Given the description of an element on the screen output the (x, y) to click on. 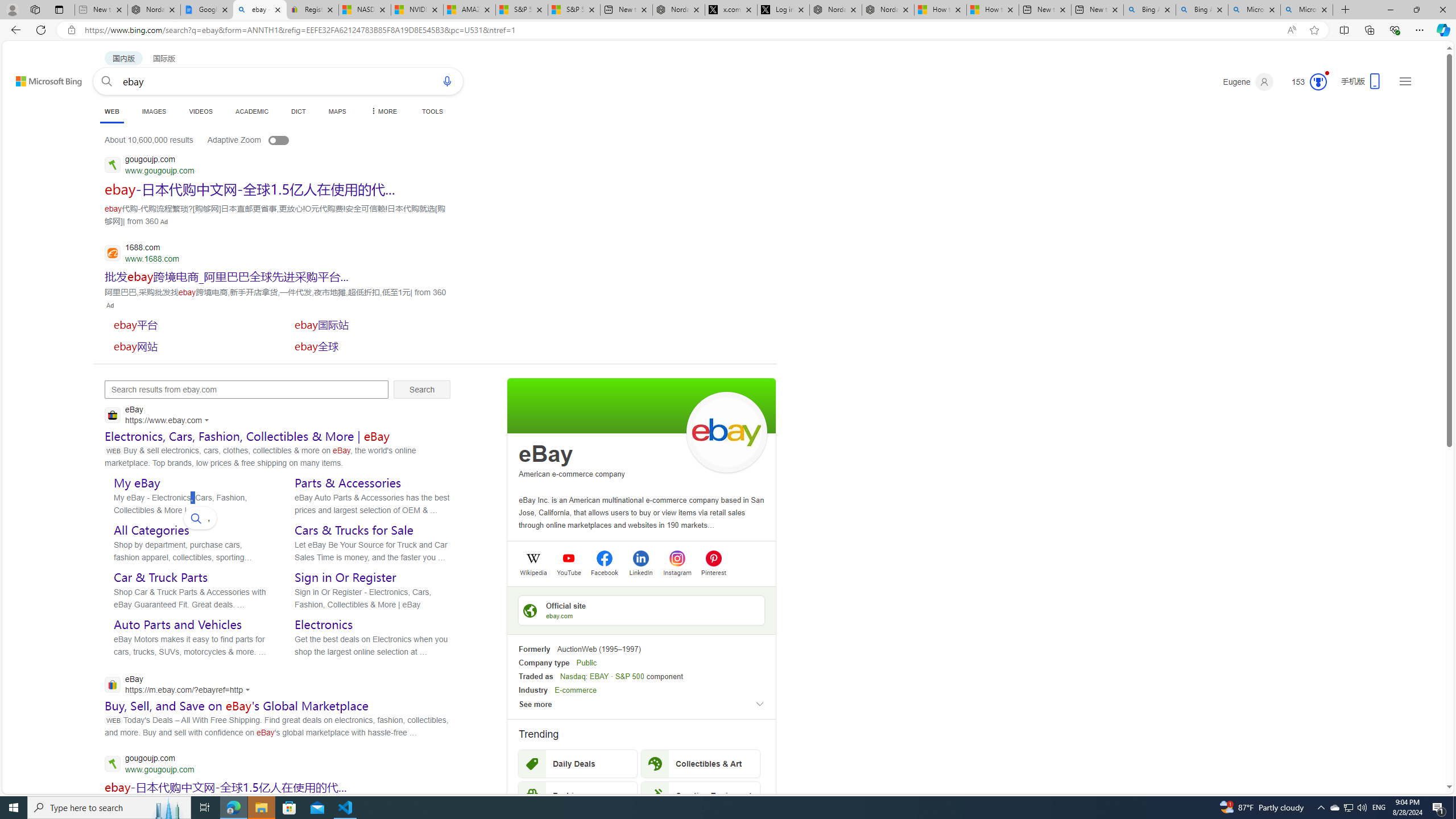
DICT (298, 111)
Cars & Trucks for Sale (353, 529)
DICT (298, 111)
Adaptive Zoom (259, 139)
Eugene (1248, 81)
Fashion (577, 795)
Collectibles & Art (701, 763)
SERP,5721 (225, 786)
